Given the description of an element on the screen output the (x, y) to click on. 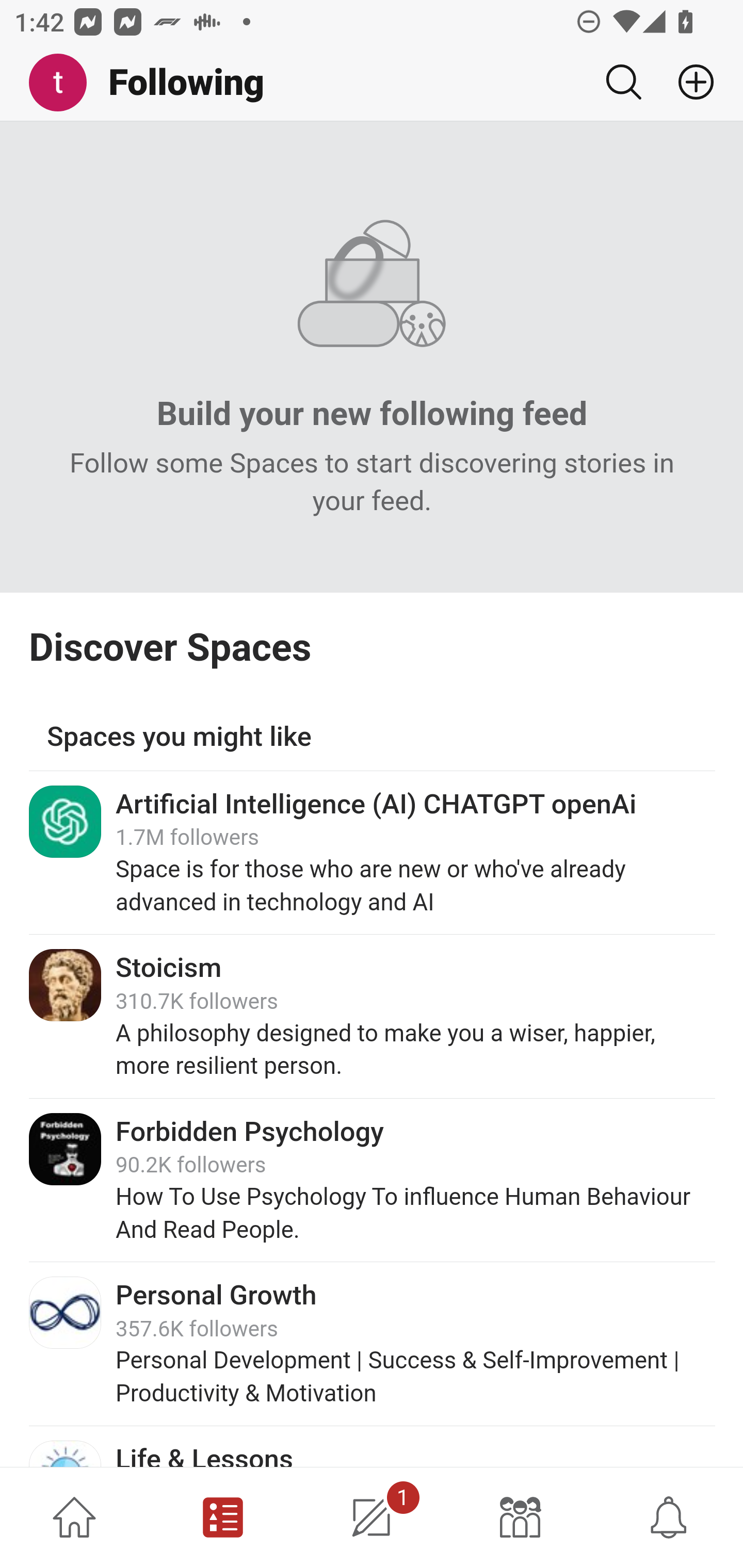
Me (64, 83)
Search (623, 82)
Add (688, 82)
1 (371, 1517)
